Given the description of an element on the screen output the (x, y) to click on. 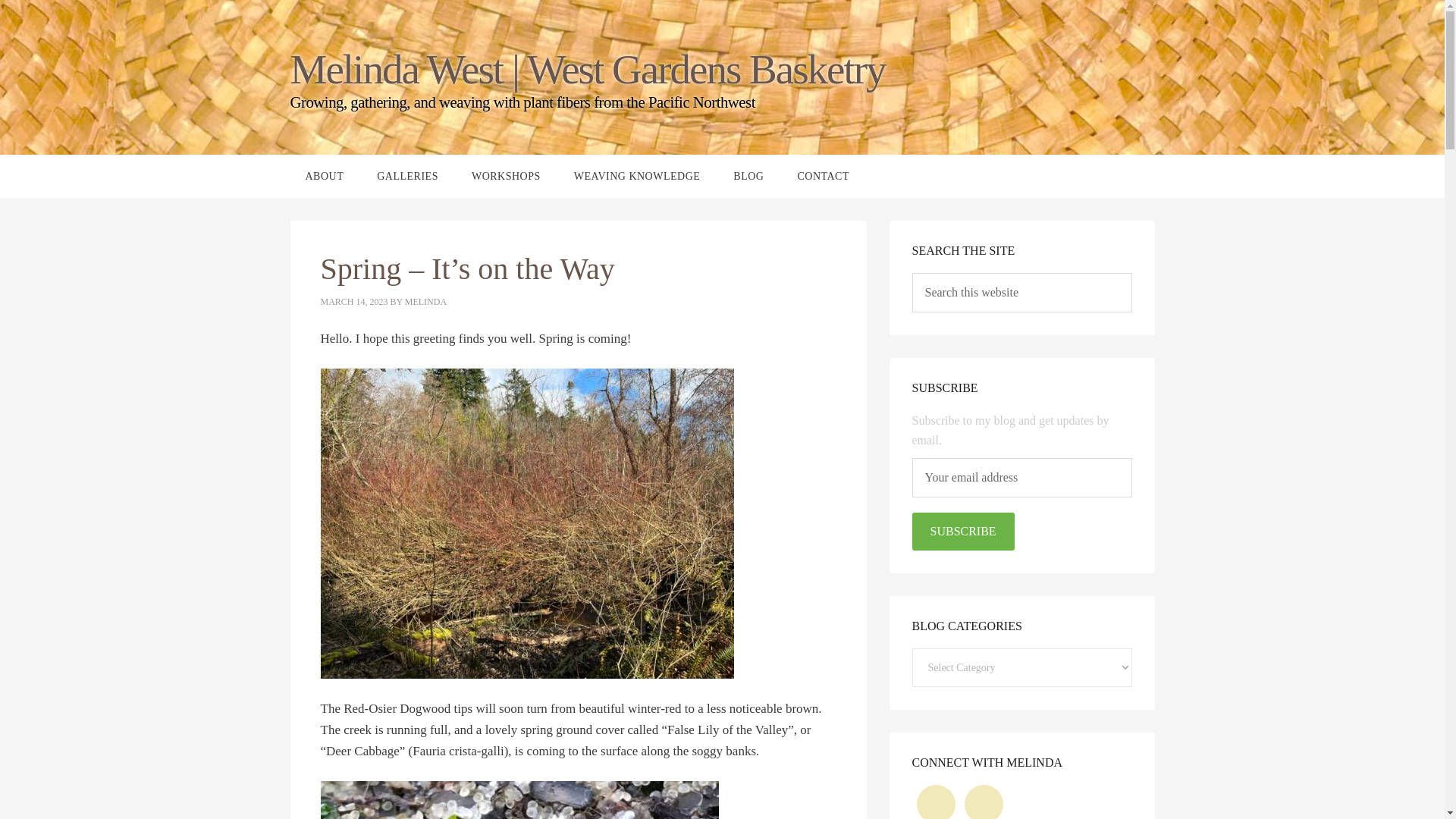
GALLERIES (406, 176)
Subscribe (962, 531)
WORKSHOPS (506, 176)
Subscribe (962, 531)
BLOG (747, 176)
ABOUT (323, 176)
WEAVING KNOWLEDGE (637, 176)
